Given the description of an element on the screen output the (x, y) to click on. 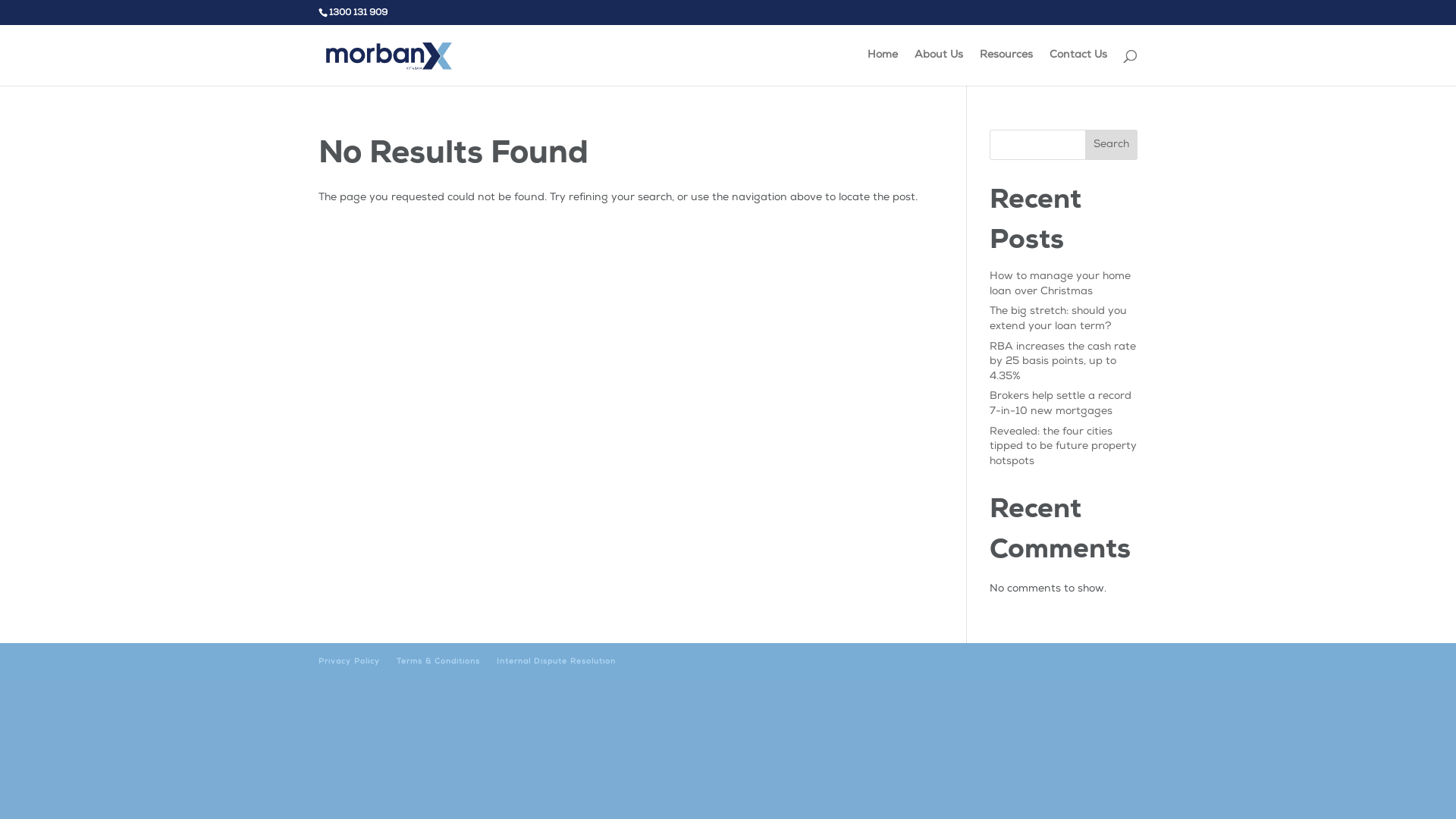
Privacy Policy Element type: text (348, 661)
Resources Element type: text (1005, 67)
How to manage your home loan over Christmas Element type: text (1059, 284)
Brokers help settle a record 7-in-10 new mortgages Element type: text (1060, 404)
The big stretch: should you extend your loan term? Element type: text (1057, 319)
Terms & Conditions Element type: text (438, 661)
Internal Dispute Resolution Element type: text (555, 661)
Search Element type: text (1111, 144)
Contact Us Element type: text (1078, 67)
About Us Element type: text (938, 67)
RBA increases the cash rate by 25 basis points, up to 4.35% Element type: text (1062, 362)
Home Element type: text (882, 67)
